Given the description of an element on the screen output the (x, y) to click on. 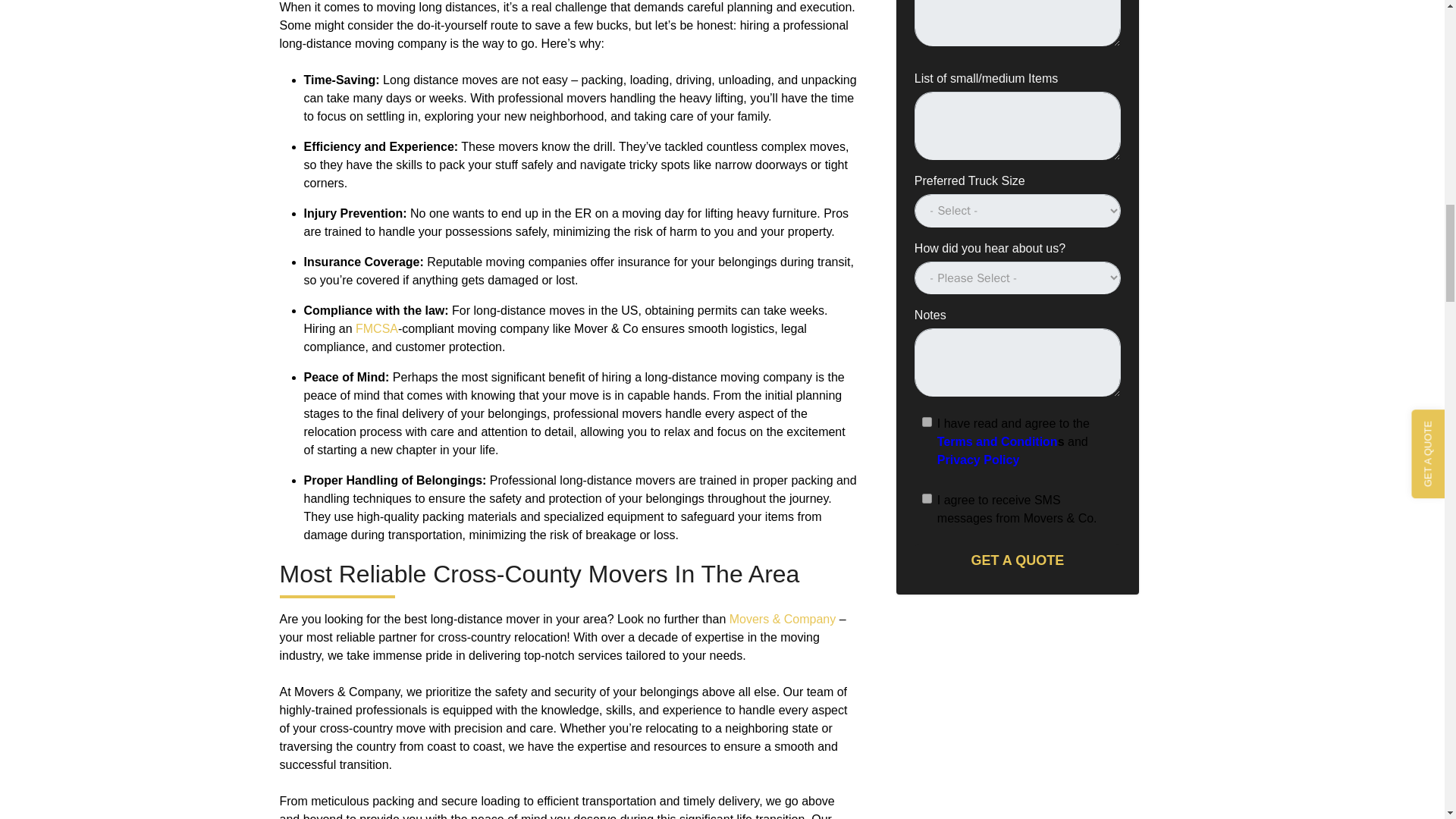
on (926, 498)
on (926, 421)
